Given the description of an element on the screen output the (x, y) to click on. 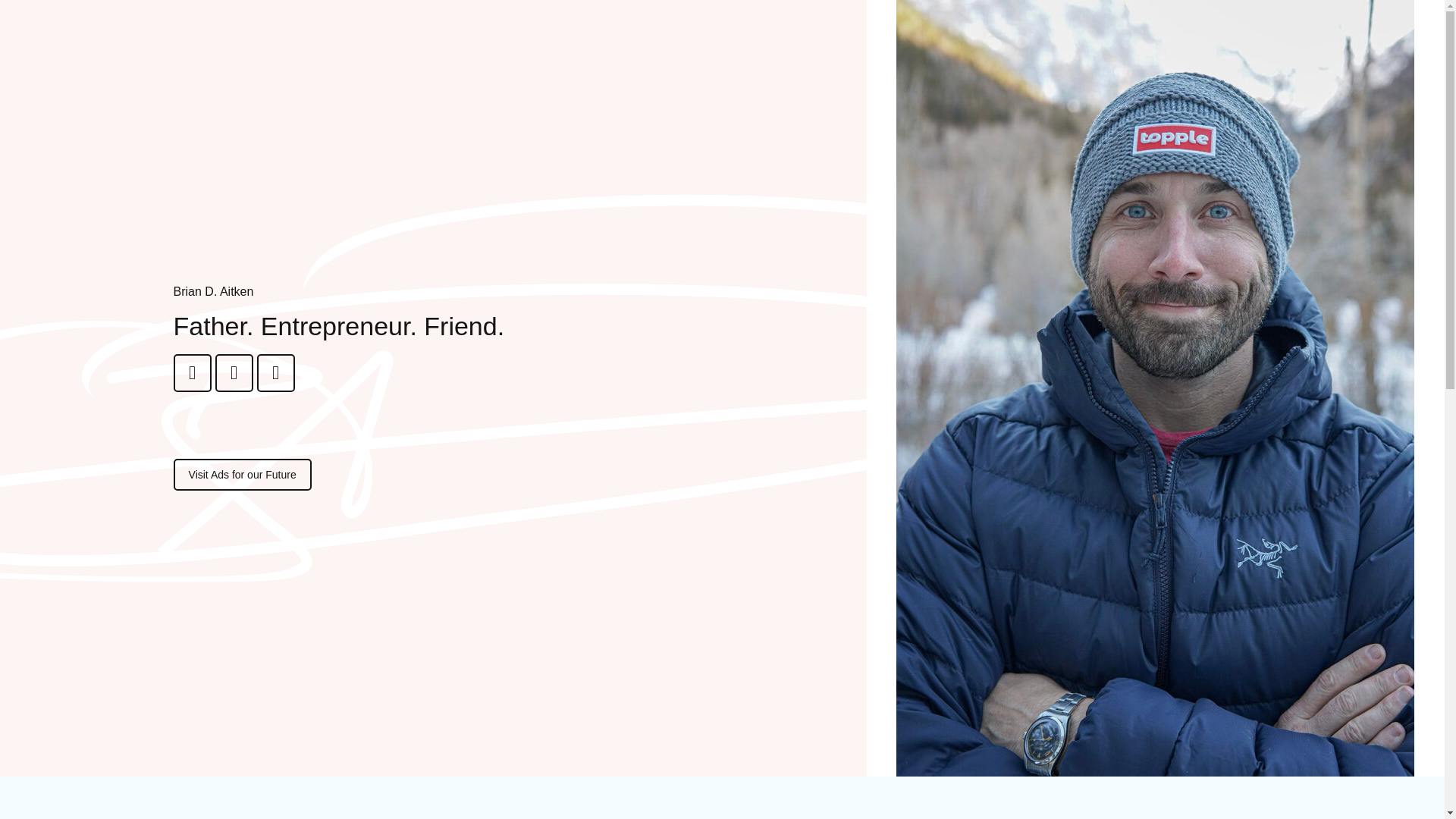
Visit Ads for our Future (242, 474)
